Given the description of an element on the screen output the (x, y) to click on. 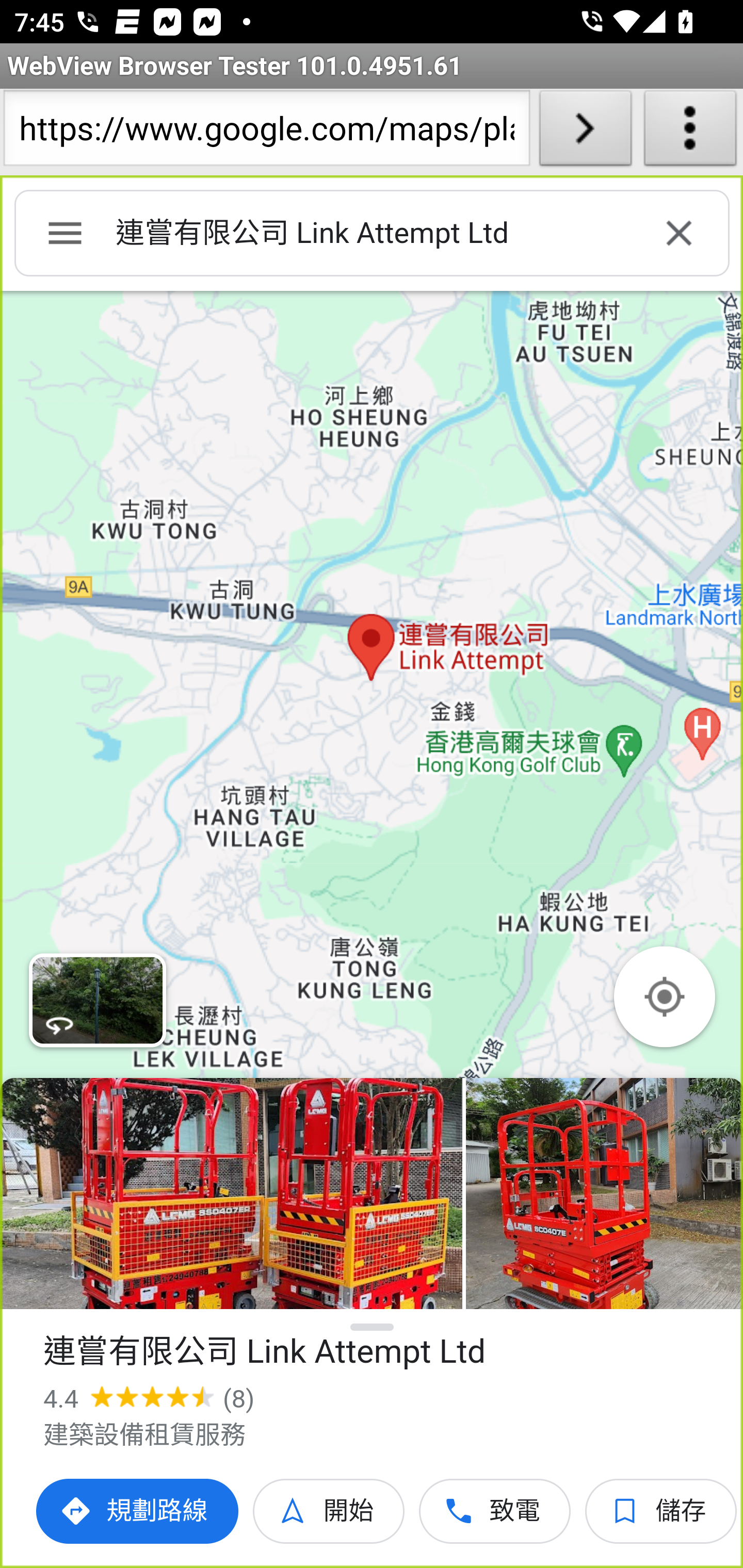
Load URL (585, 132)
About WebView (690, 132)
第 1 張相片 (共 9 張) (231, 1193)
第 2 張相片 (共 9 張) (604, 1193)
顯示詳細資料 (372, 1327)
前往連嘗有限公司 Link Attempt Ltd的路線 (137, 1511)
開始 (329, 1511)
致電「連嘗有限公司 Link Attempt Ltd」  致電 (495, 1511)
將「連嘗有限公司 Link Attempt Ltd」儲存至清單中 (661, 1511)
